Given the description of an element on the screen output the (x, y) to click on. 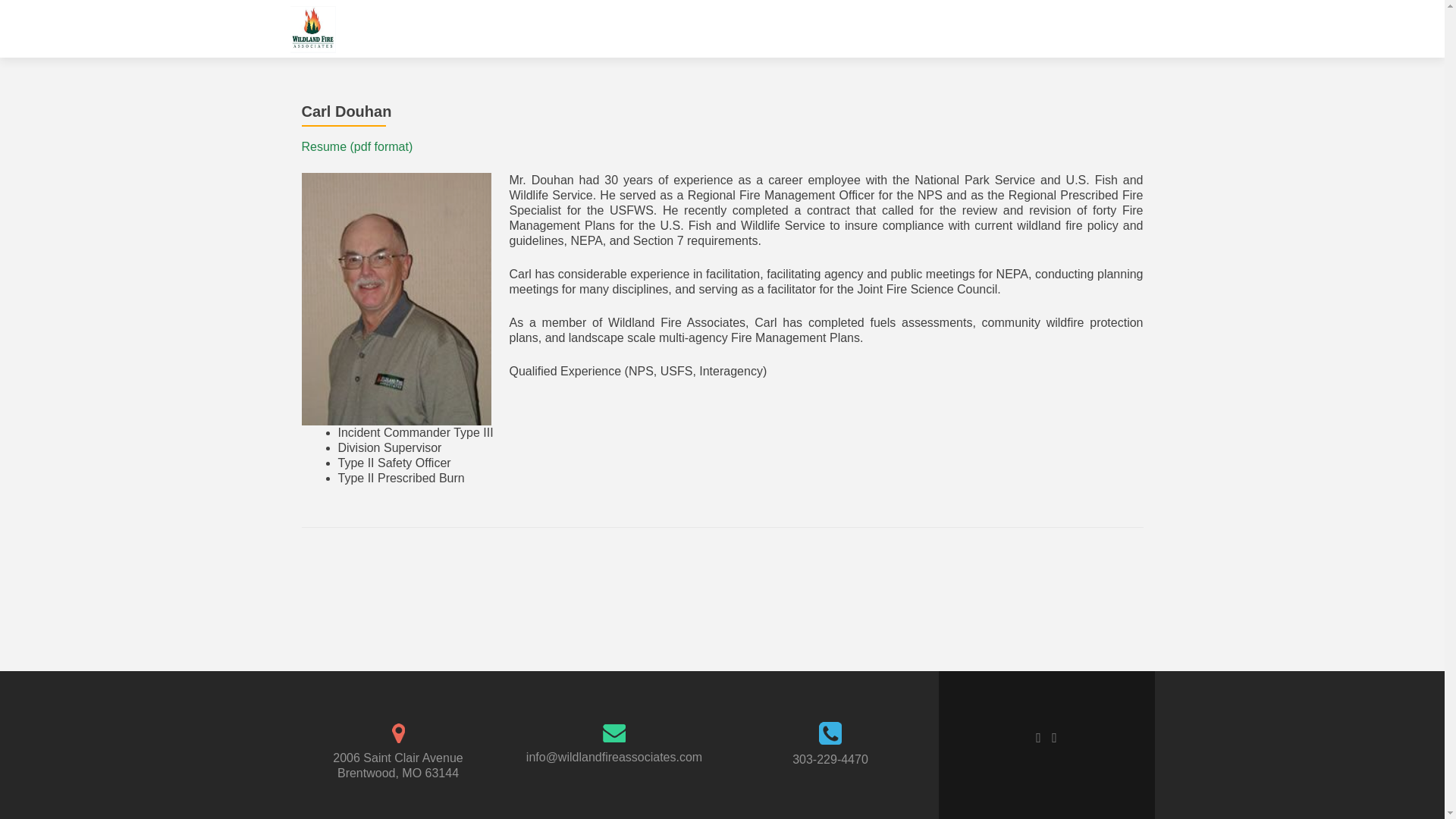
Contact (1133, 28)
Services (906, 28)
About (1081, 28)
Projects (966, 28)
303-229-4470 (829, 758)
People (1027, 28)
